Given the description of an element on the screen output the (x, y) to click on. 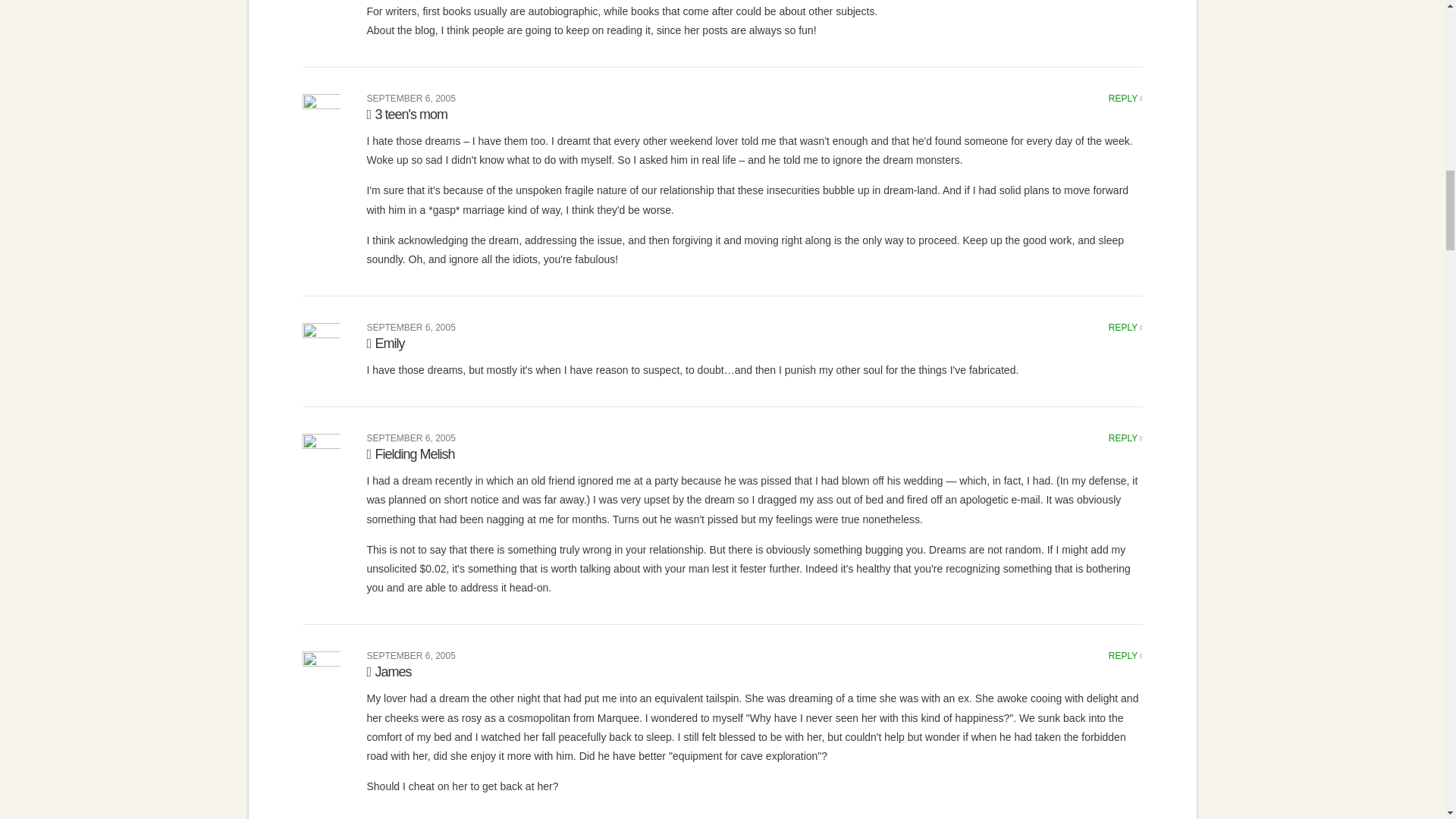
Emily (385, 343)
REPLY (1125, 438)
REPLY (1125, 98)
REPLY (1125, 655)
SEPTEMBER 6, 2005 (410, 98)
SEPTEMBER 6, 2005 (410, 438)
SEPTEMBER 6, 2005 (410, 655)
SEPTEMBER 6, 2005 (410, 327)
REPLY (1125, 327)
